Given the description of an element on the screen output the (x, y) to click on. 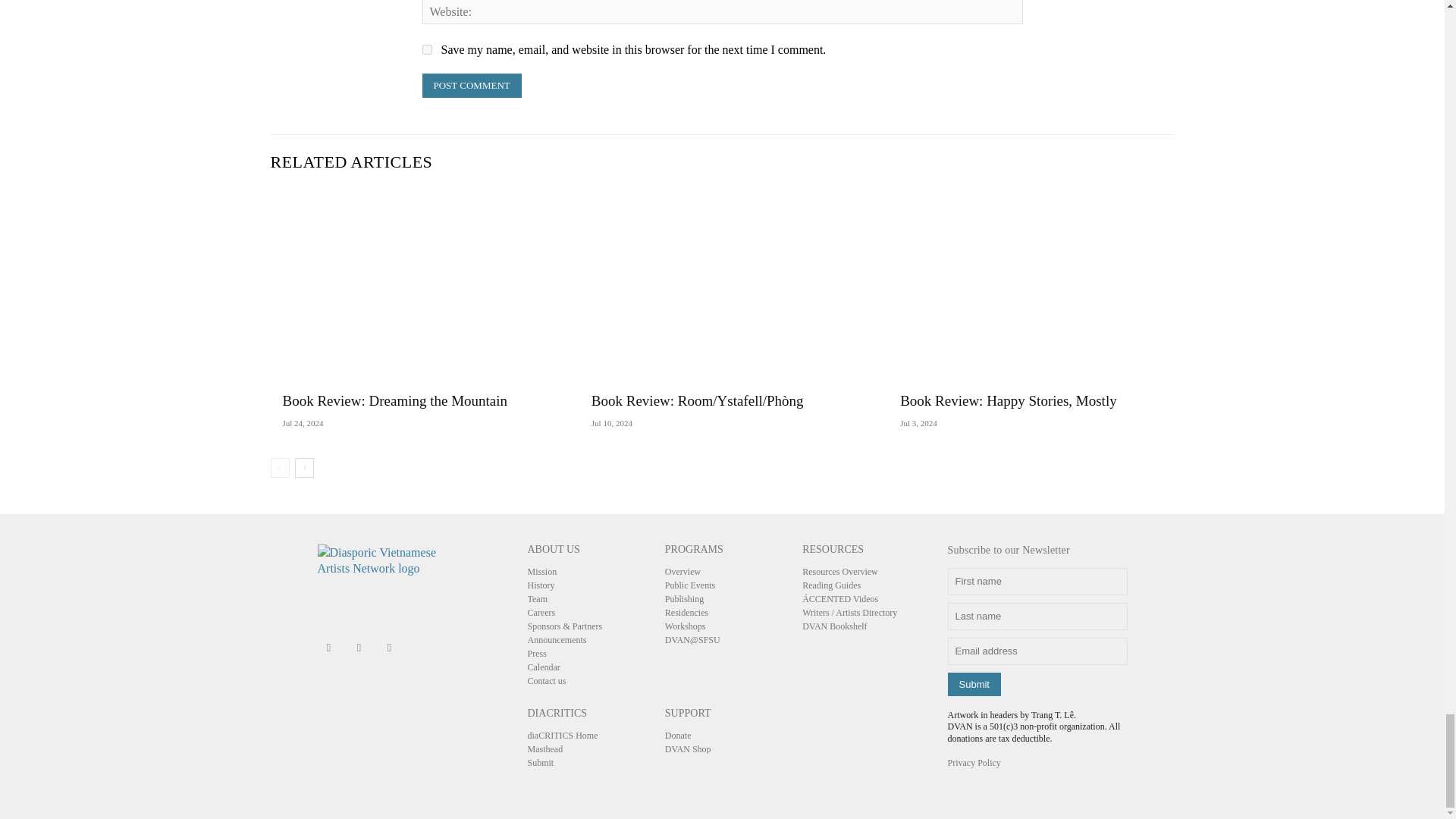
Submit (974, 684)
yes (426, 49)
Post Comment (471, 85)
